Given the description of an element on the screen output the (x, y) to click on. 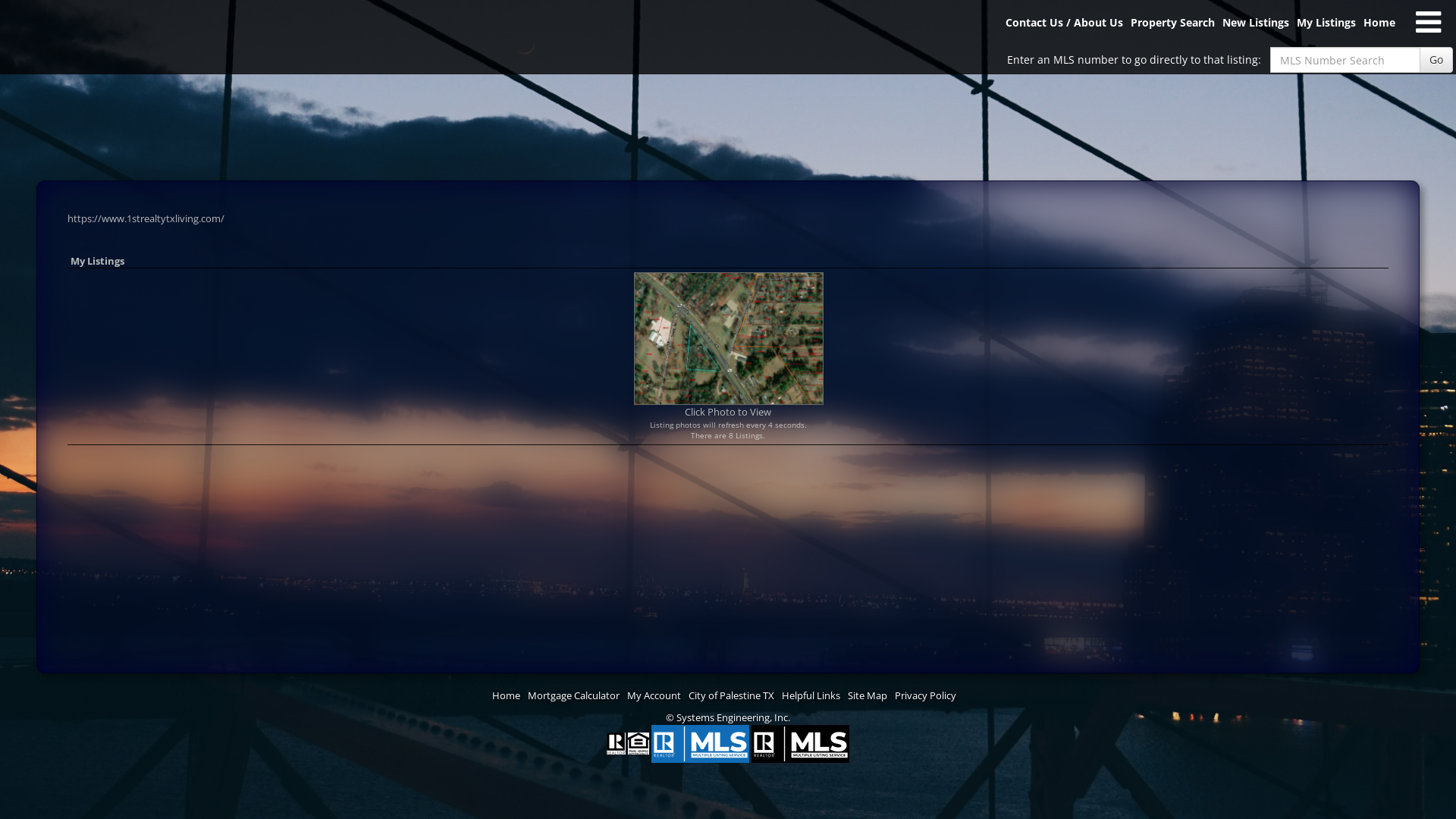
Nav Icon Element type: text (1427, 22)
Home Element type: text (506, 695)
Mortgage Calculator Element type: text (573, 695)
My Account Element type: text (653, 695)
New Listings Element type: text (1255, 28)
Site Map Element type: text (867, 695)
Home Element type: text (1379, 28)
Property Search Element type: text (1172, 28)
Privacy Policy Element type: text (925, 695)
Helpful Links Element type: text (810, 695)
Contact Us / About Us Element type: text (1064, 28)
My Listings Element type: text (1325, 28)
City of Palestine TX Element type: text (731, 695)
Go Element type: text (1435, 59)
